Given the description of an element on the screen output the (x, y) to click on. 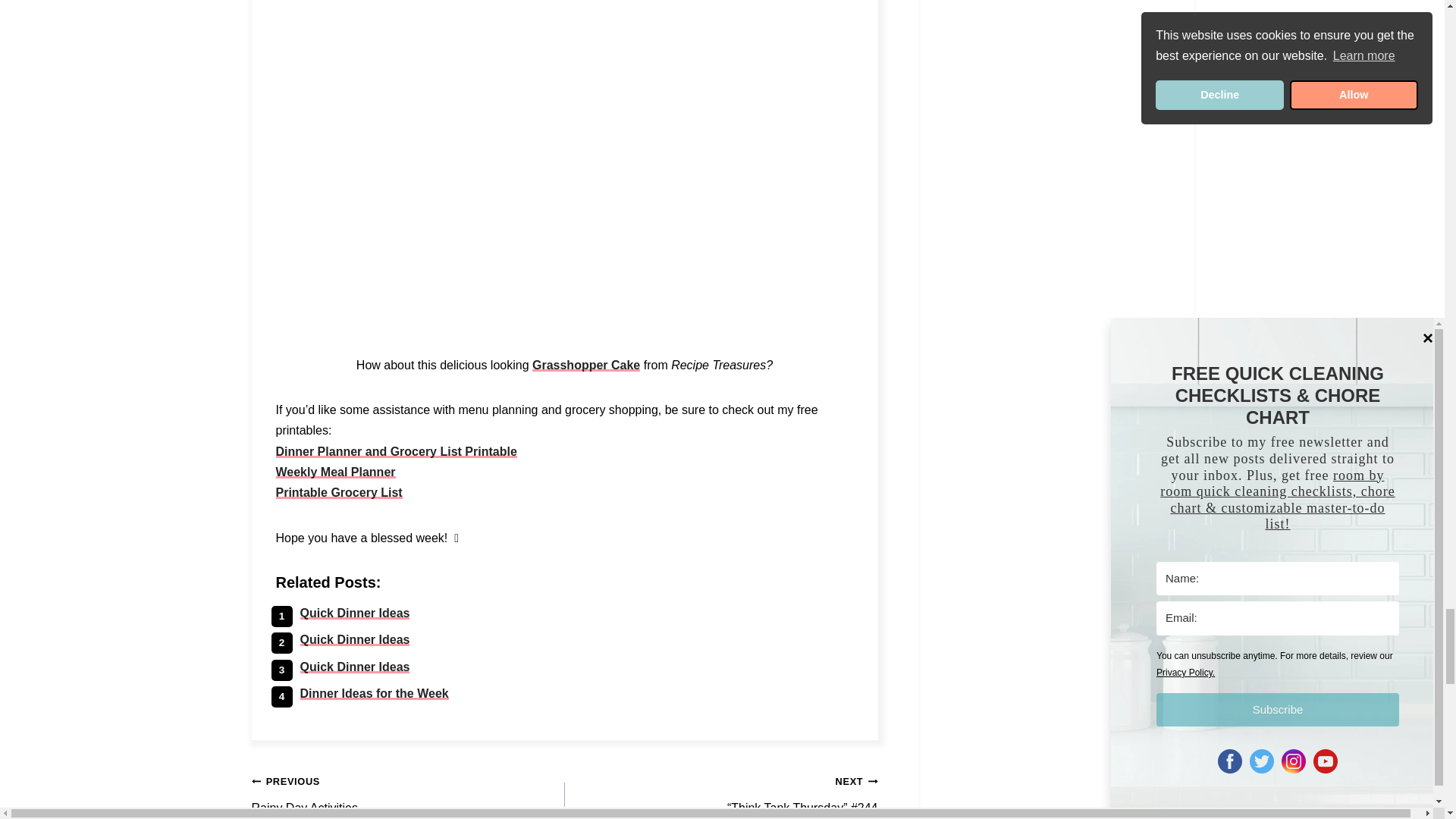
Quick Dinner Ideas (354, 639)
Quick Dinner Ideas (354, 612)
Dinner Ideas for the Week (373, 693)
Quick Dinner Ideas (354, 666)
